Given the description of an element on the screen output the (x, y) to click on. 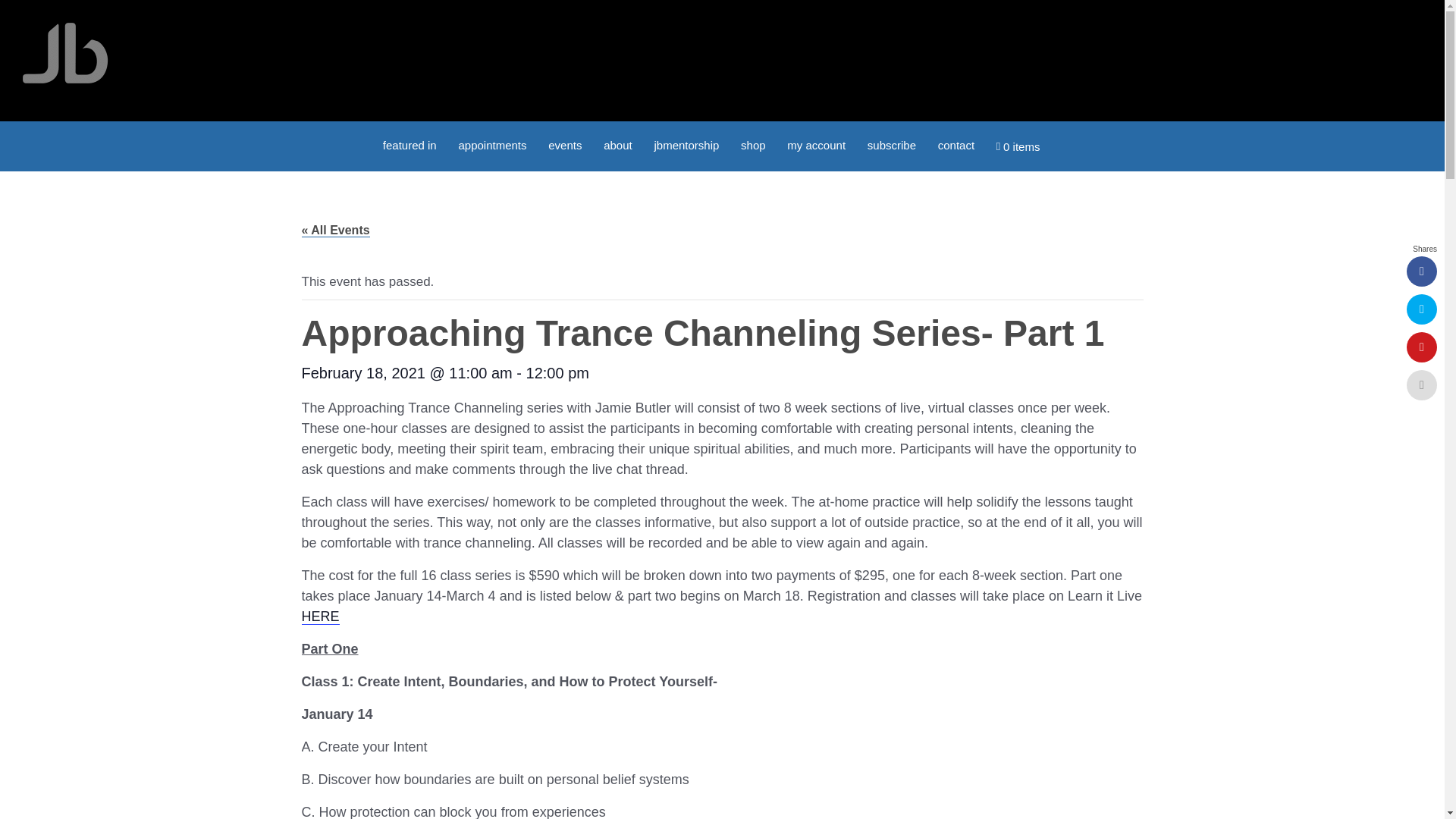
subscribe (891, 144)
search (1061, 140)
featured in (409, 144)
my account (815, 144)
jbmentorship (686, 144)
Start shopping (1018, 146)
appointments (491, 144)
0 items (1018, 146)
about (618, 144)
shop (753, 144)
